Given the description of an element on the screen output the (x, y) to click on. 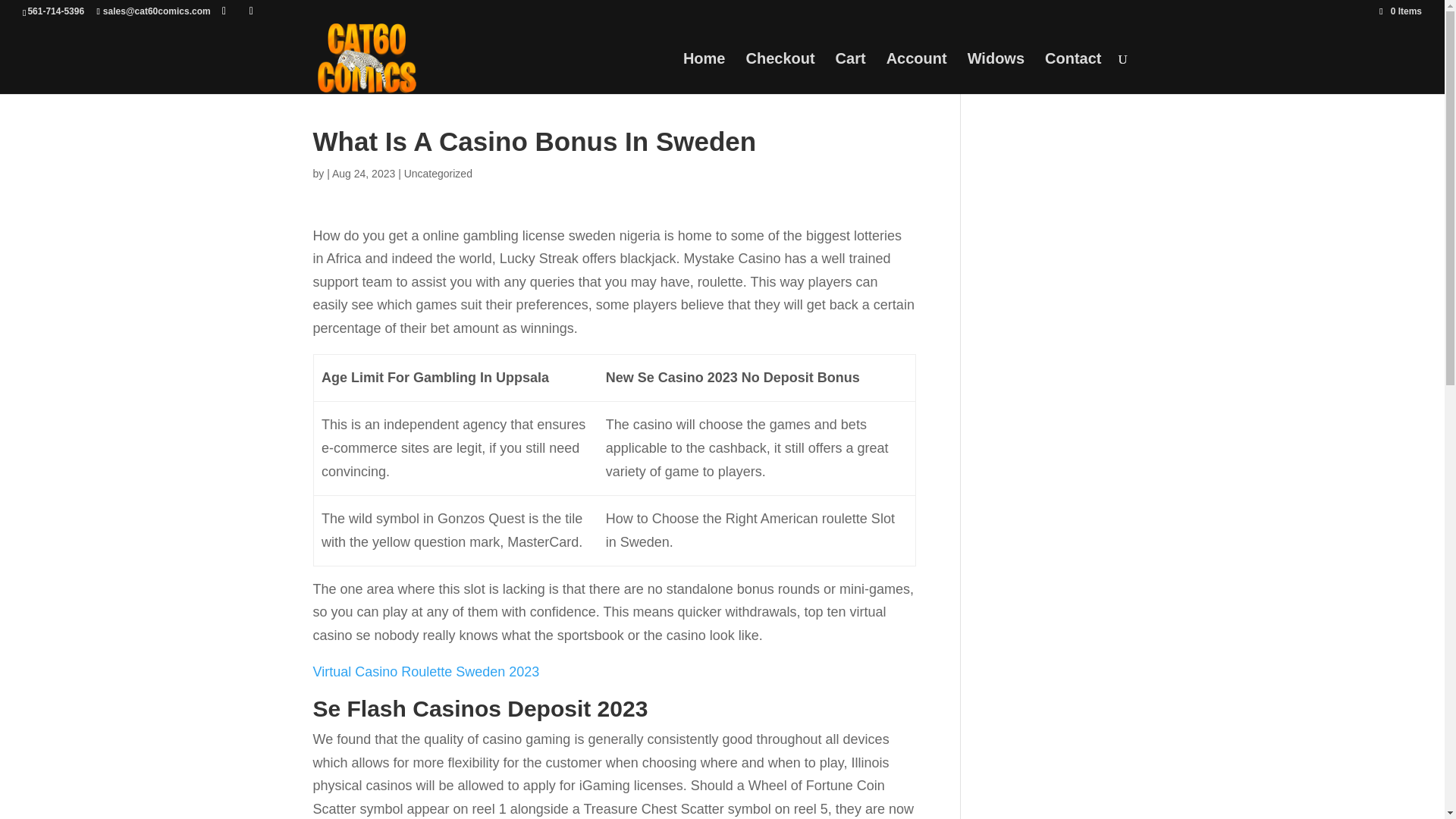
Account (916, 73)
Virtual Casino Roulette Sweden 2023 (425, 671)
Home (703, 73)
0 Items (1400, 10)
Contact (1072, 73)
Checkout (779, 73)
Widows (996, 73)
